Given the description of an element on the screen output the (x, y) to click on. 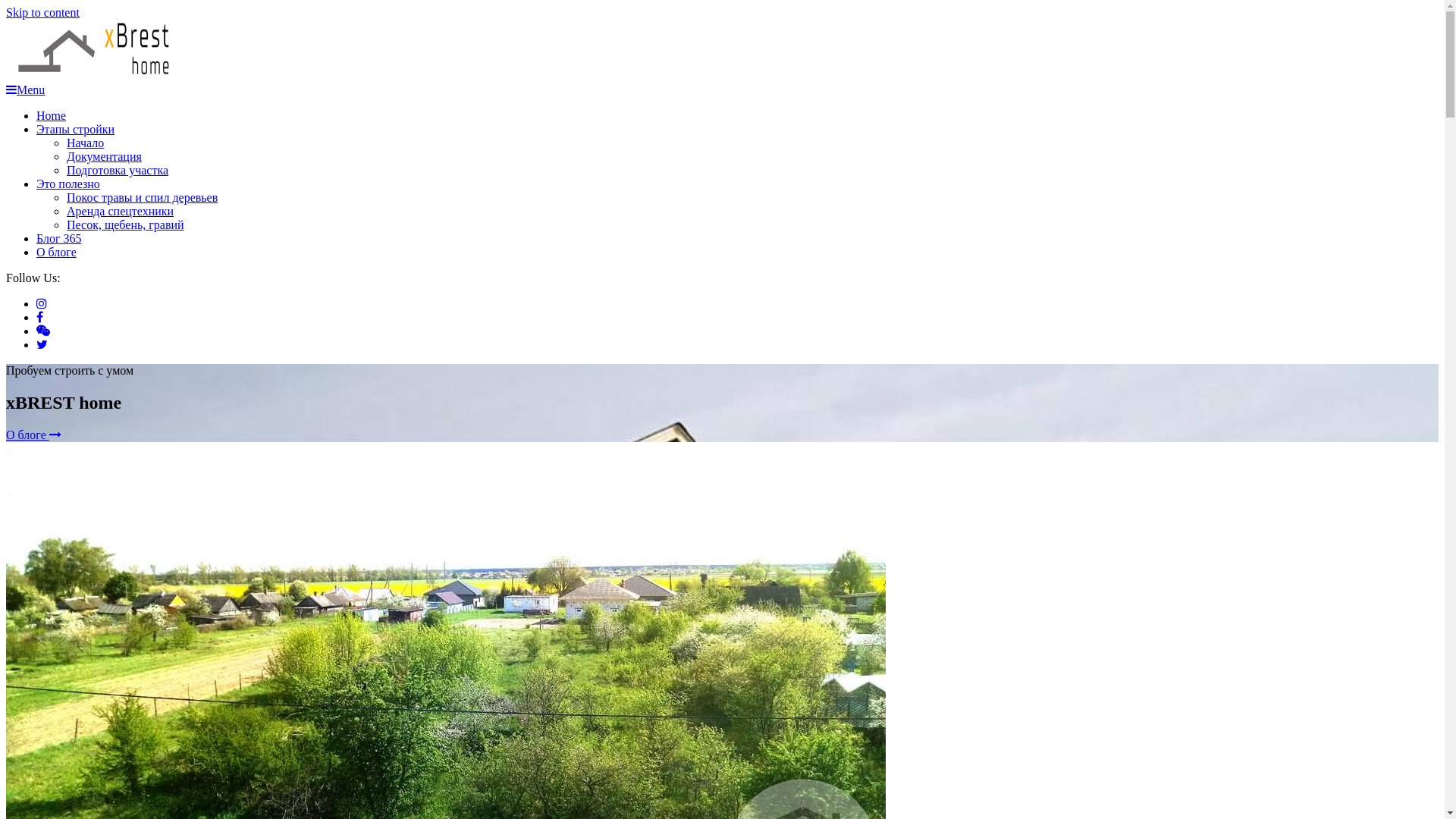
Home Element type: text (50, 115)
Skip to content Element type: text (42, 12)
xBREST home Element type: text (83, 112)
Menu Element type: text (25, 89)
